Given the description of an element on the screen output the (x, y) to click on. 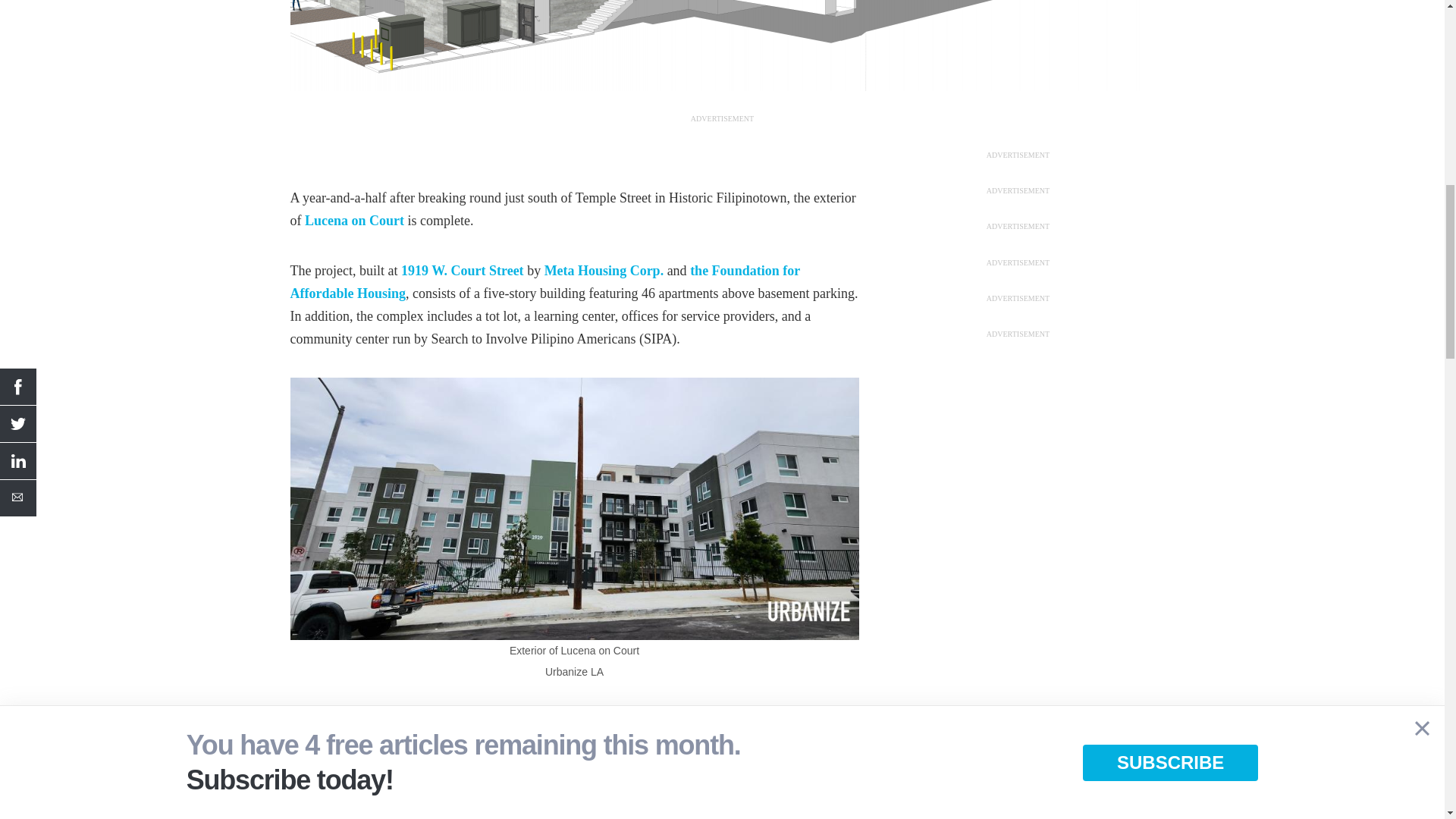
Urbanize LA (574, 507)
